Given the description of an element on the screen output the (x, y) to click on. 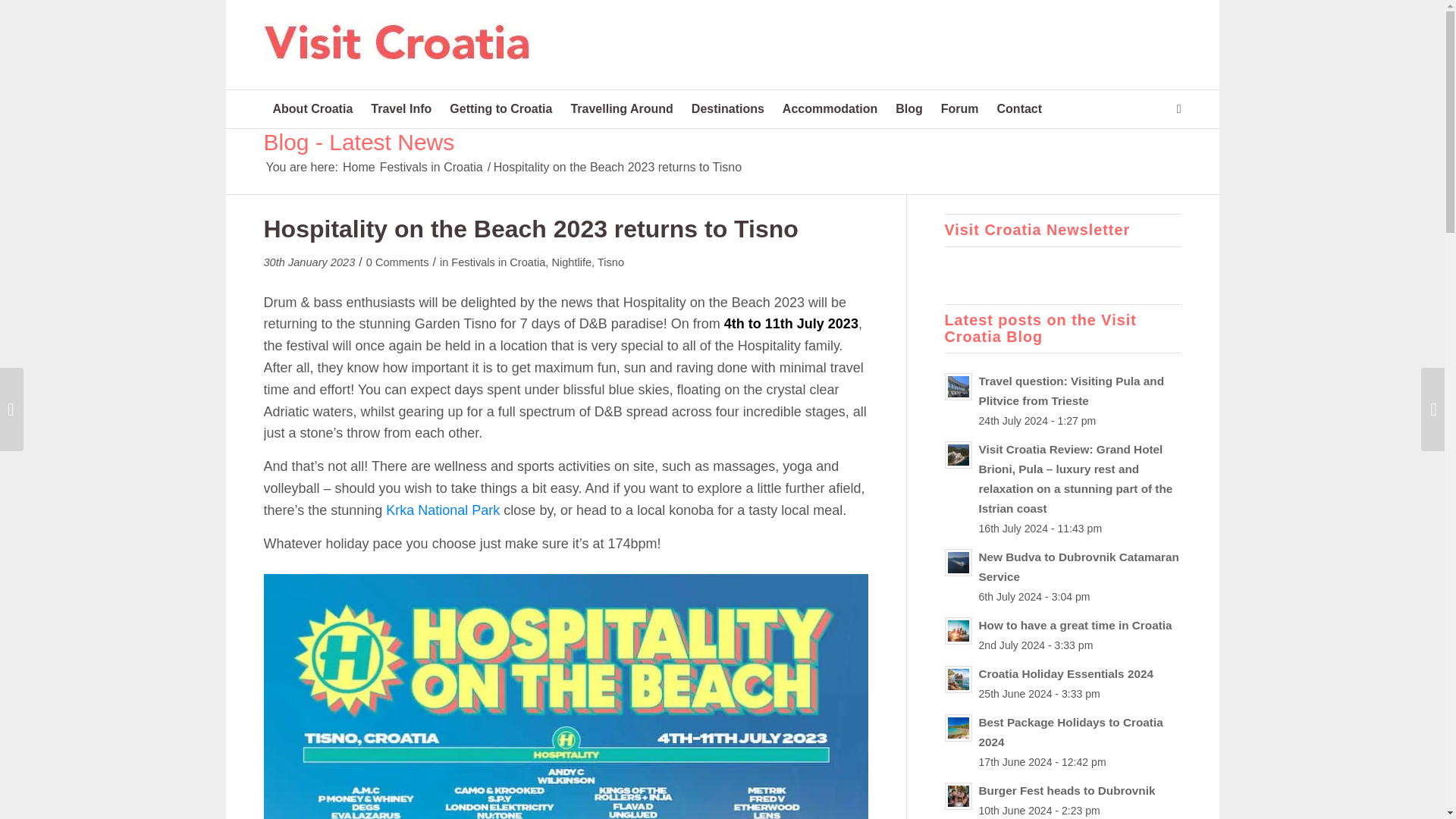
visit-croatia-logo5 (397, 42)
Travel Info (401, 108)
Visit Croatia (358, 166)
About Croatia (312, 108)
Getting to Croatia (500, 108)
Permanent Link: Blog - Latest News (358, 141)
visit-croatia-logo5 (397, 55)
